Given the description of an element on the screen output the (x, y) to click on. 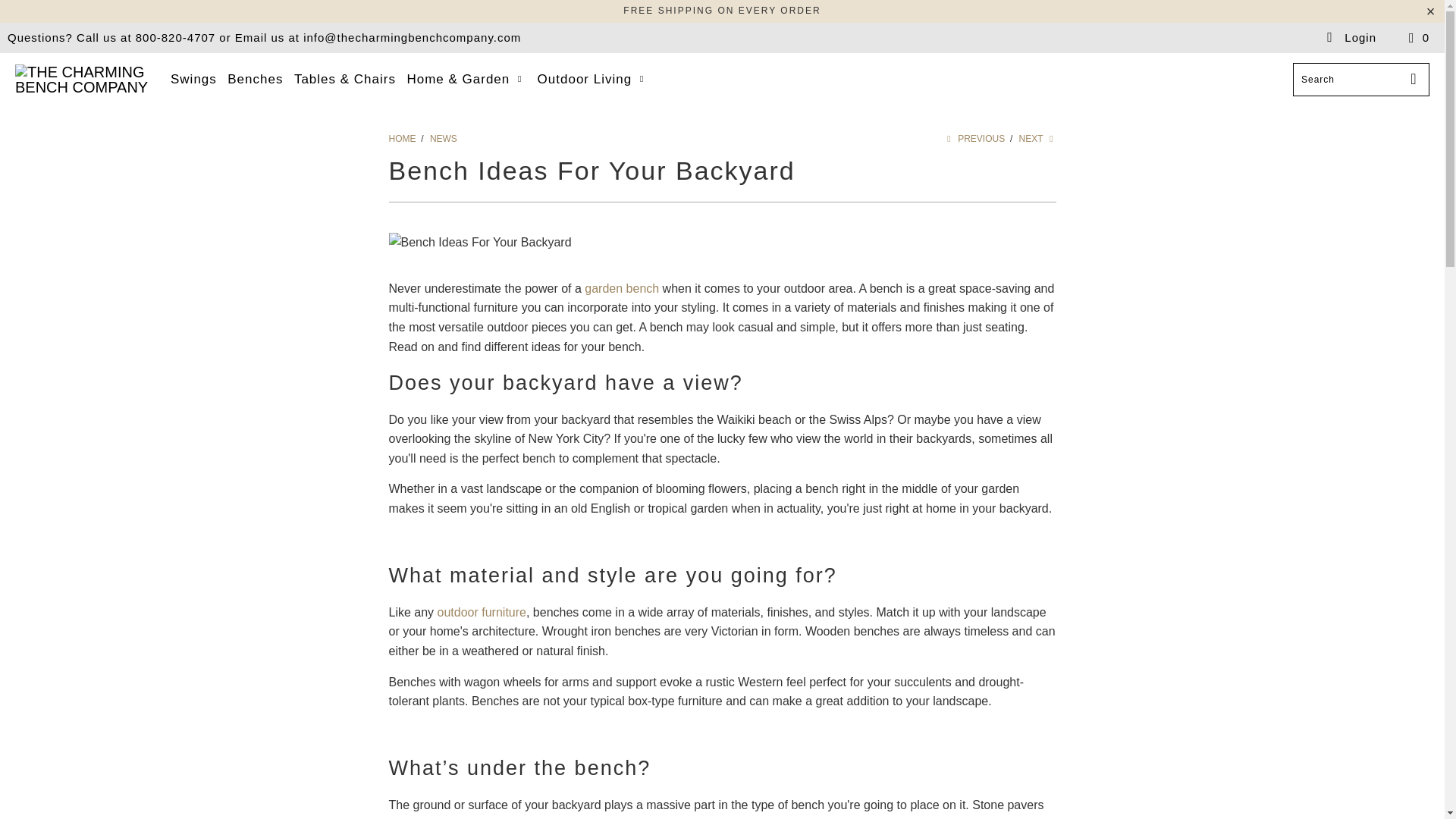
Login (1350, 37)
News (443, 138)
The Charming Bench Company (402, 138)
My Account  (1350, 37)
Swings (193, 79)
The Charming Bench Company (84, 79)
